Given the description of an element on the screen output the (x, y) to click on. 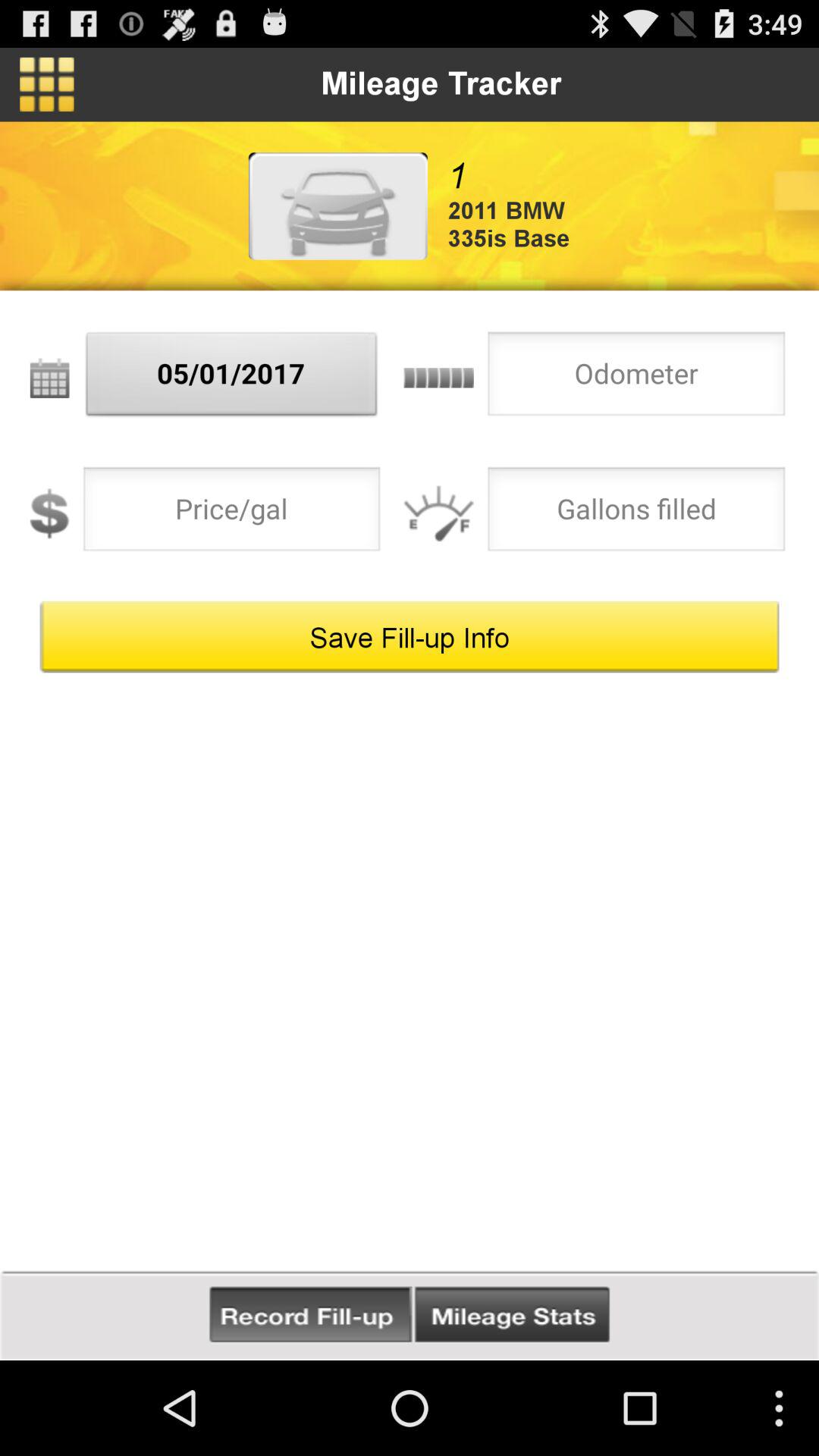
put the price per gallon to track the fuel expending (231, 513)
